Given the description of an element on the screen output the (x, y) to click on. 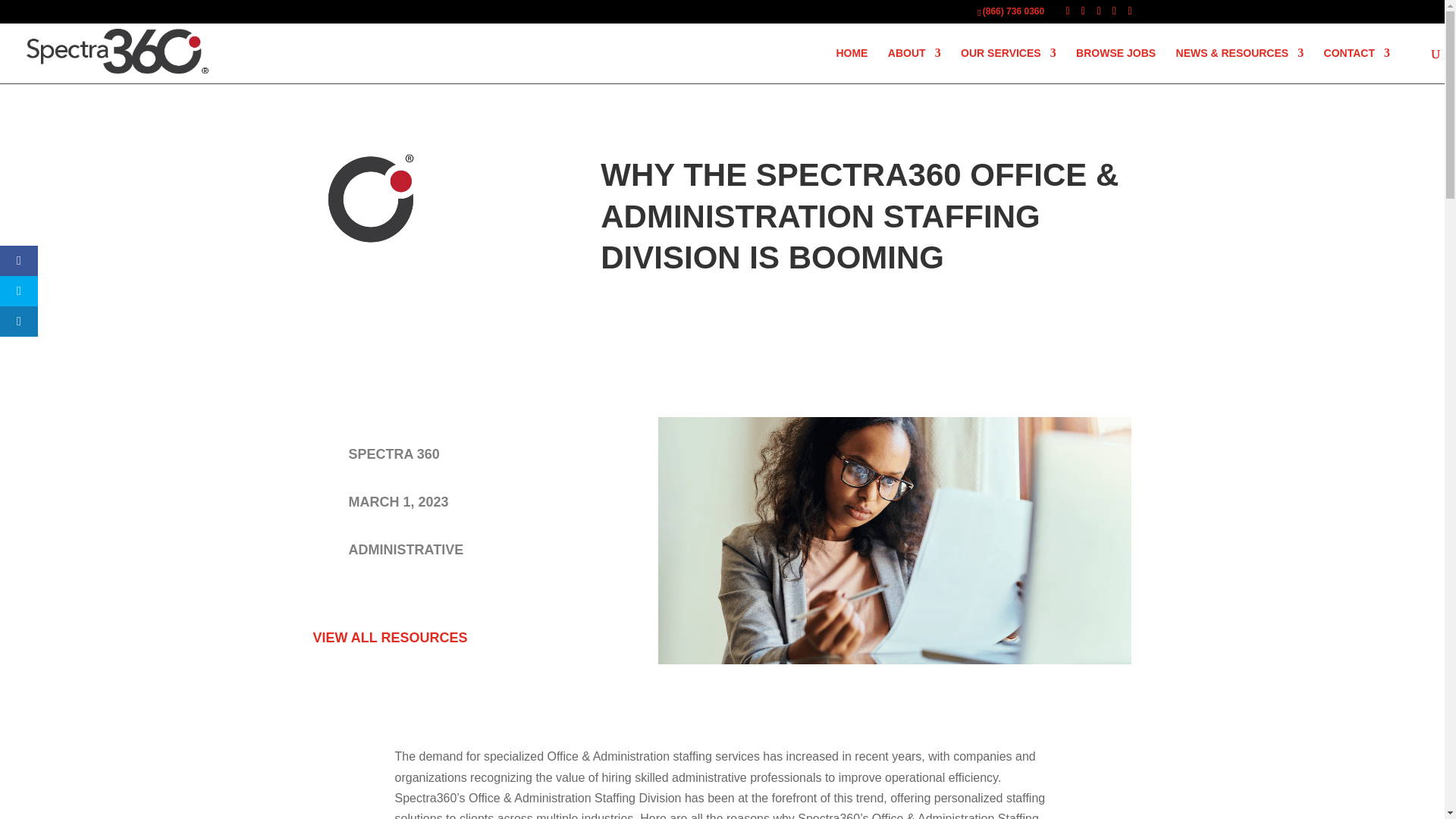
OUR SERVICES (1008, 65)
Spectra360-Logo-Mark-registered-01 (371, 199)
ADMINISTRATIVE (406, 549)
HOME (851, 65)
CONTACT (1356, 65)
ABOUT (914, 65)
BROWSE JOBS (1115, 65)
SPECTRA 360 (394, 453)
